Given the description of an element on the screen output the (x, y) to click on. 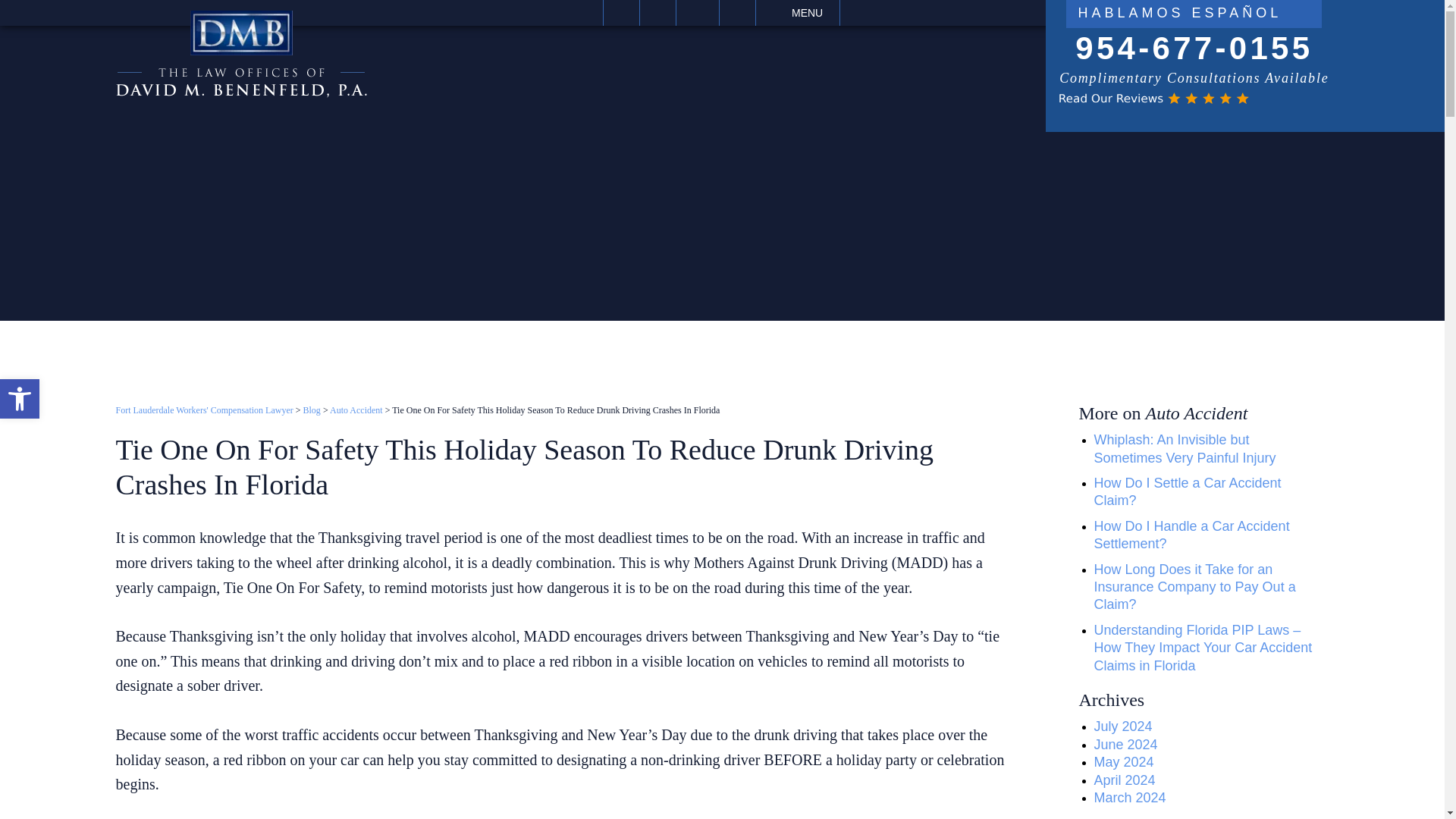
EMAIL (698, 12)
HOME (621, 12)
MENU (797, 12)
CALL (657, 12)
Accessibility Tools (19, 398)
Accessibility Tools (19, 398)
SEARCH (737, 12)
954-677-0155 (1193, 48)
